Given the description of an element on the screen output the (x, y) to click on. 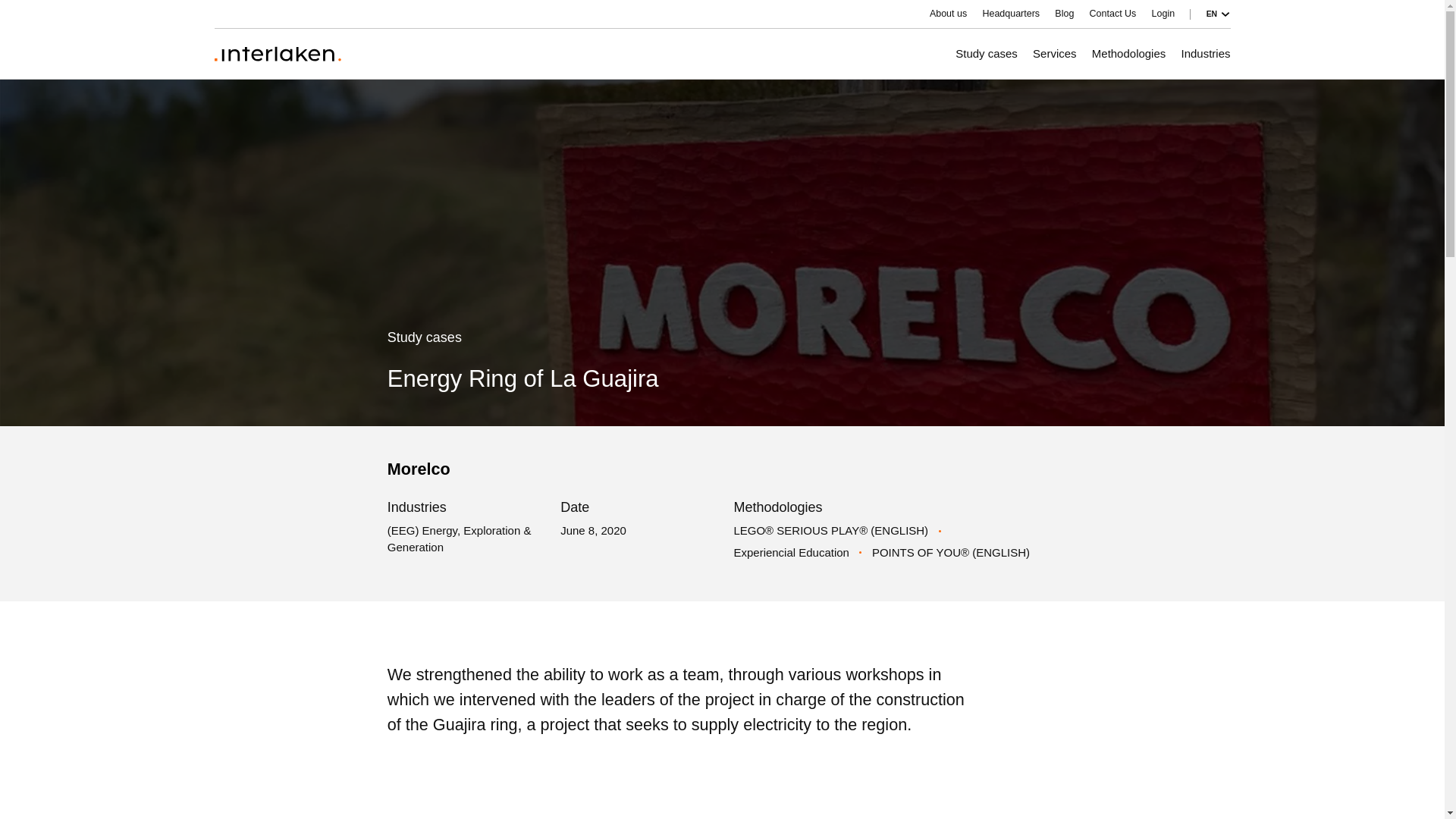
Login (1162, 14)
Industries (1205, 53)
Study cases (986, 53)
Contact Us (1113, 14)
Blog (1064, 14)
About us (948, 14)
Methodologies (1129, 53)
Headquarters (1010, 14)
Services (1053, 53)
EN (1218, 14)
